Given the description of an element on the screen output the (x, y) to click on. 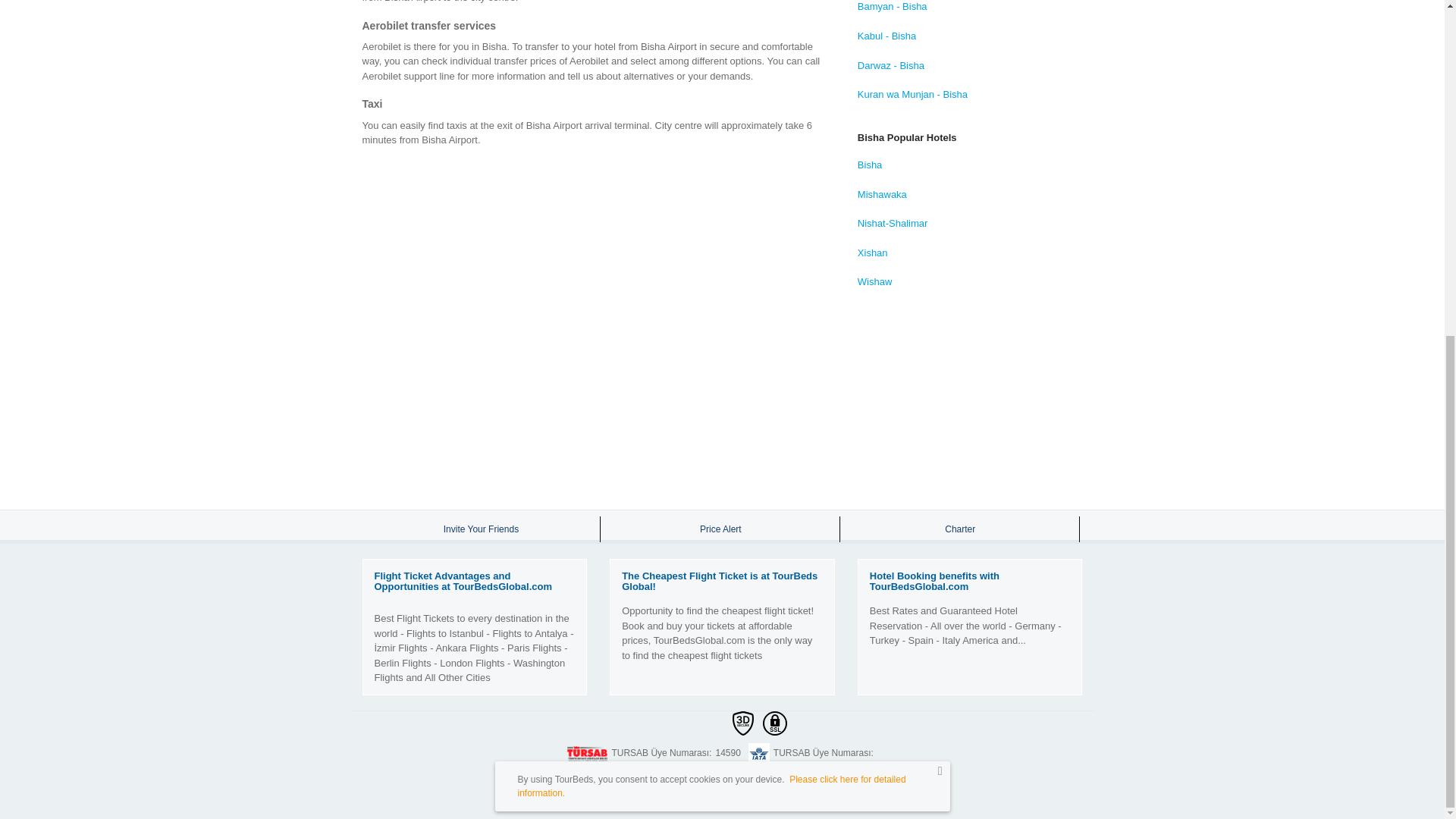
Please click here for detailed information. (710, 221)
